Given the description of an element on the screen output the (x, y) to click on. 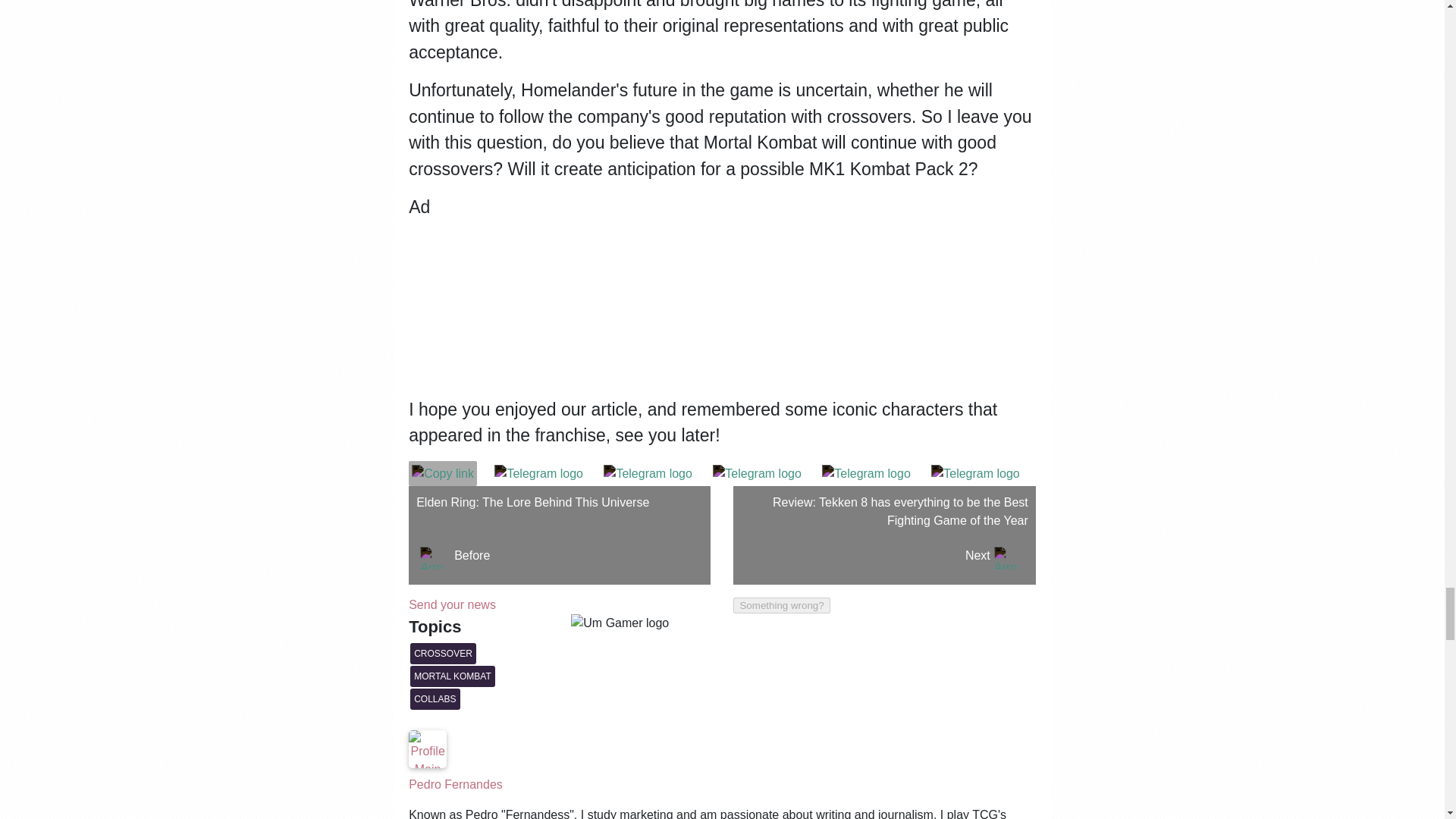
Send your news (452, 604)
Something wrong? (559, 535)
